Given the description of an element on the screen output the (x, y) to click on. 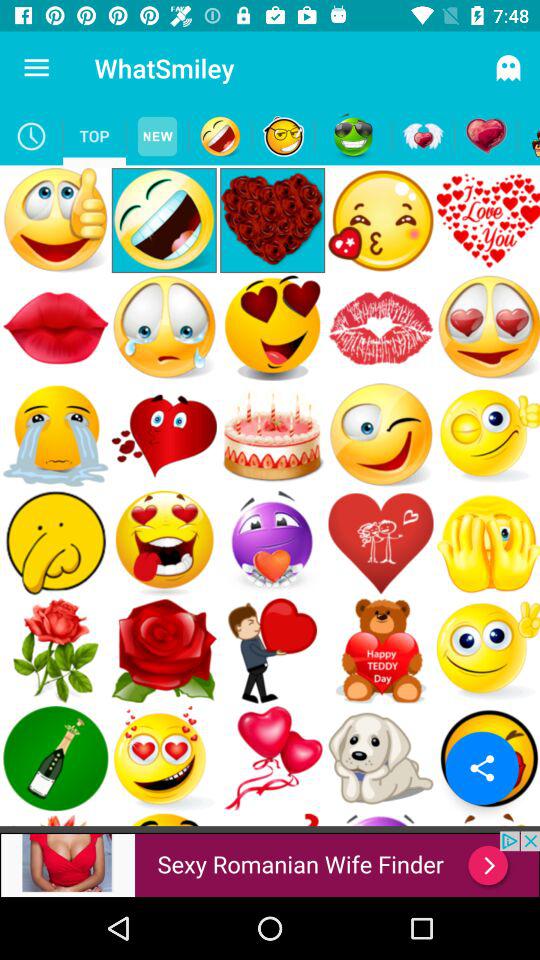
go to emoji section (220, 136)
